Given the description of an element on the screen output the (x, y) to click on. 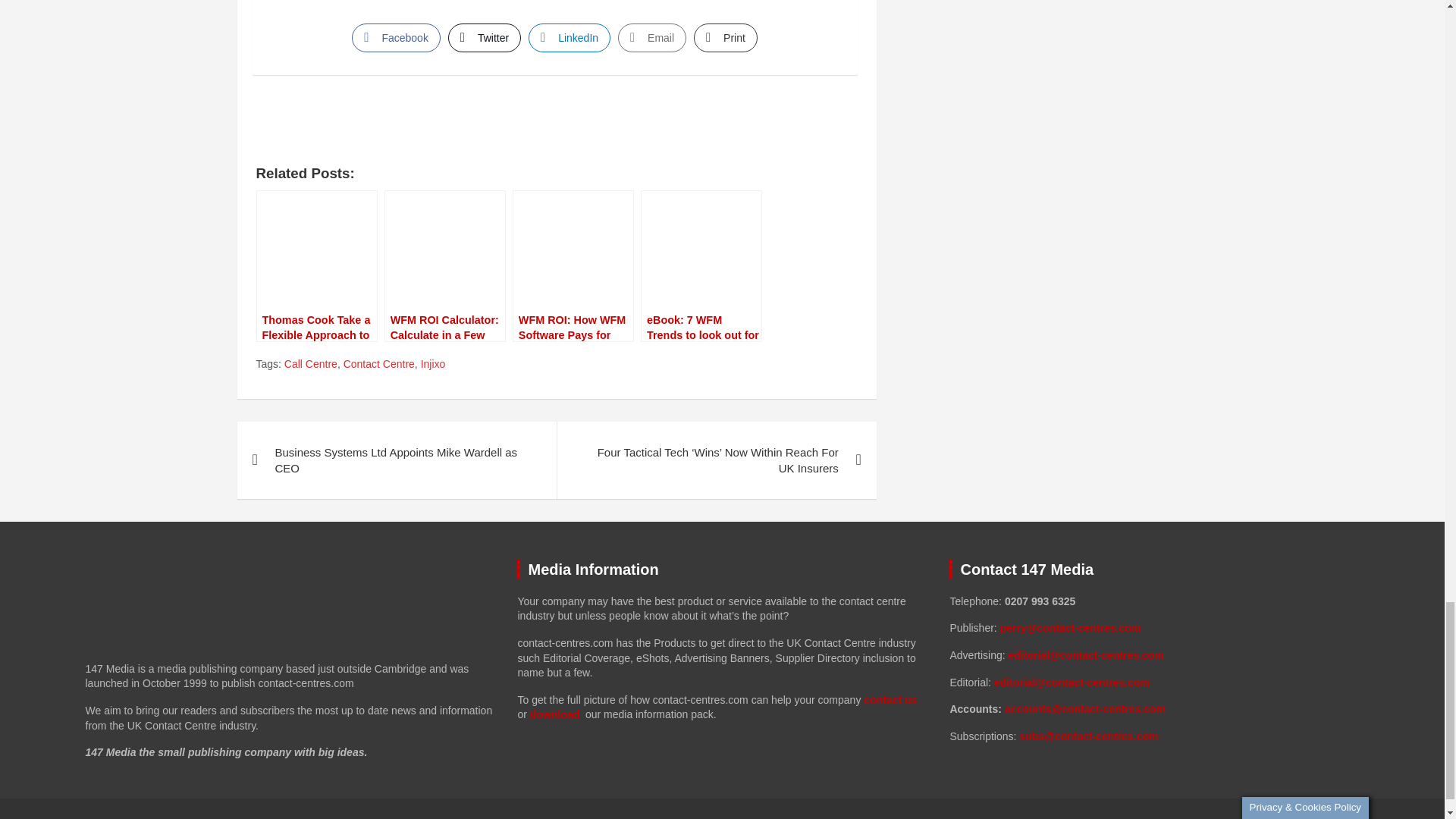
Facebook (395, 37)
Twitter (484, 37)
Print (725, 37)
Shift-click to edit this widget. (1153, 669)
LinkedIn (569, 37)
Email (651, 37)
